Given the description of an element on the screen output the (x, y) to click on. 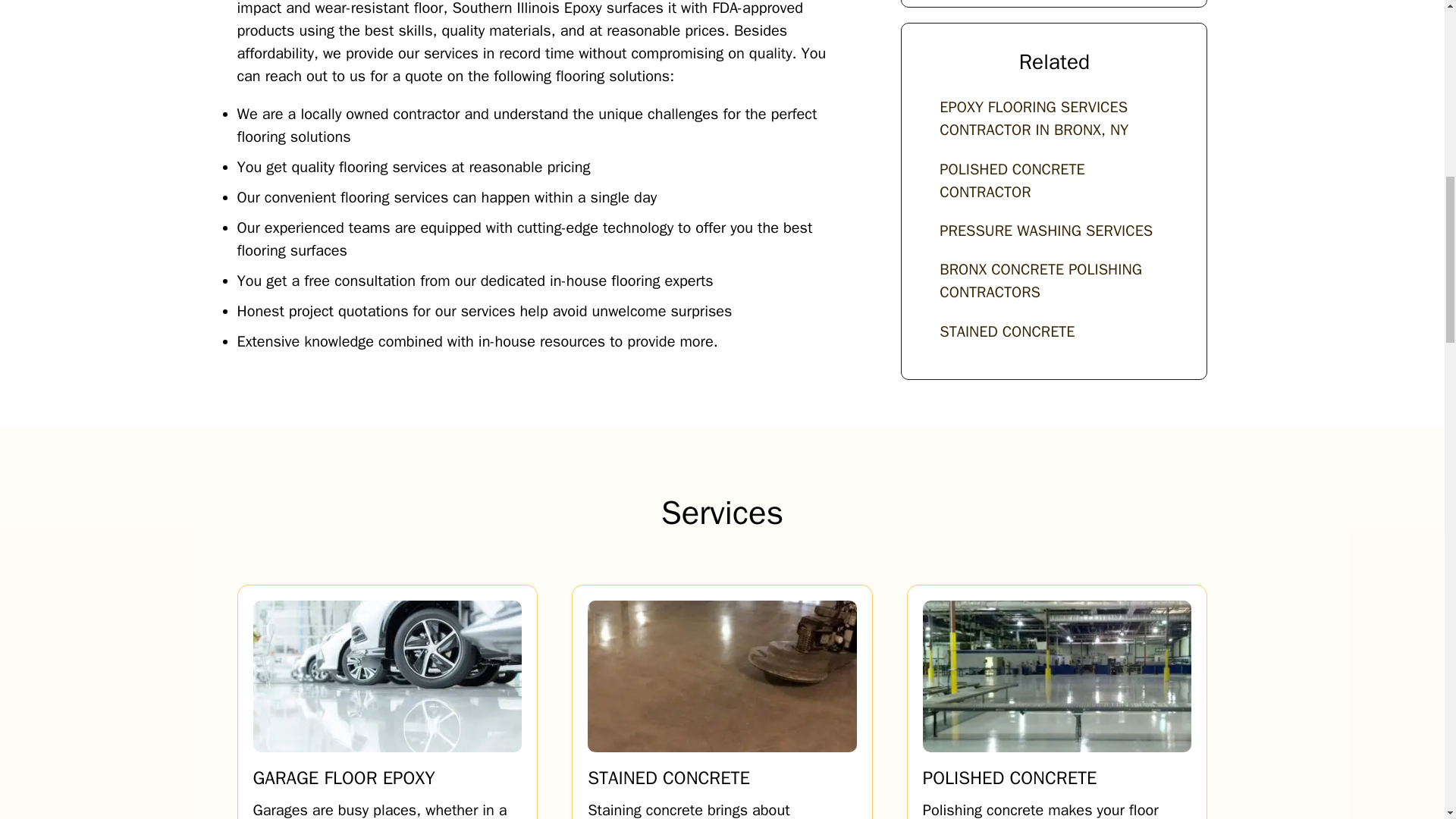
Bronx Concrete Polishing Contractors (1053, 281)
Stained Concrete (1006, 331)
Polished Concrete Contractor (1053, 181)
Pressure Washing Services (1045, 231)
Epoxy Flooring Services Contractor in Bronx, NY (1053, 118)
